Given the description of an element on the screen output the (x, y) to click on. 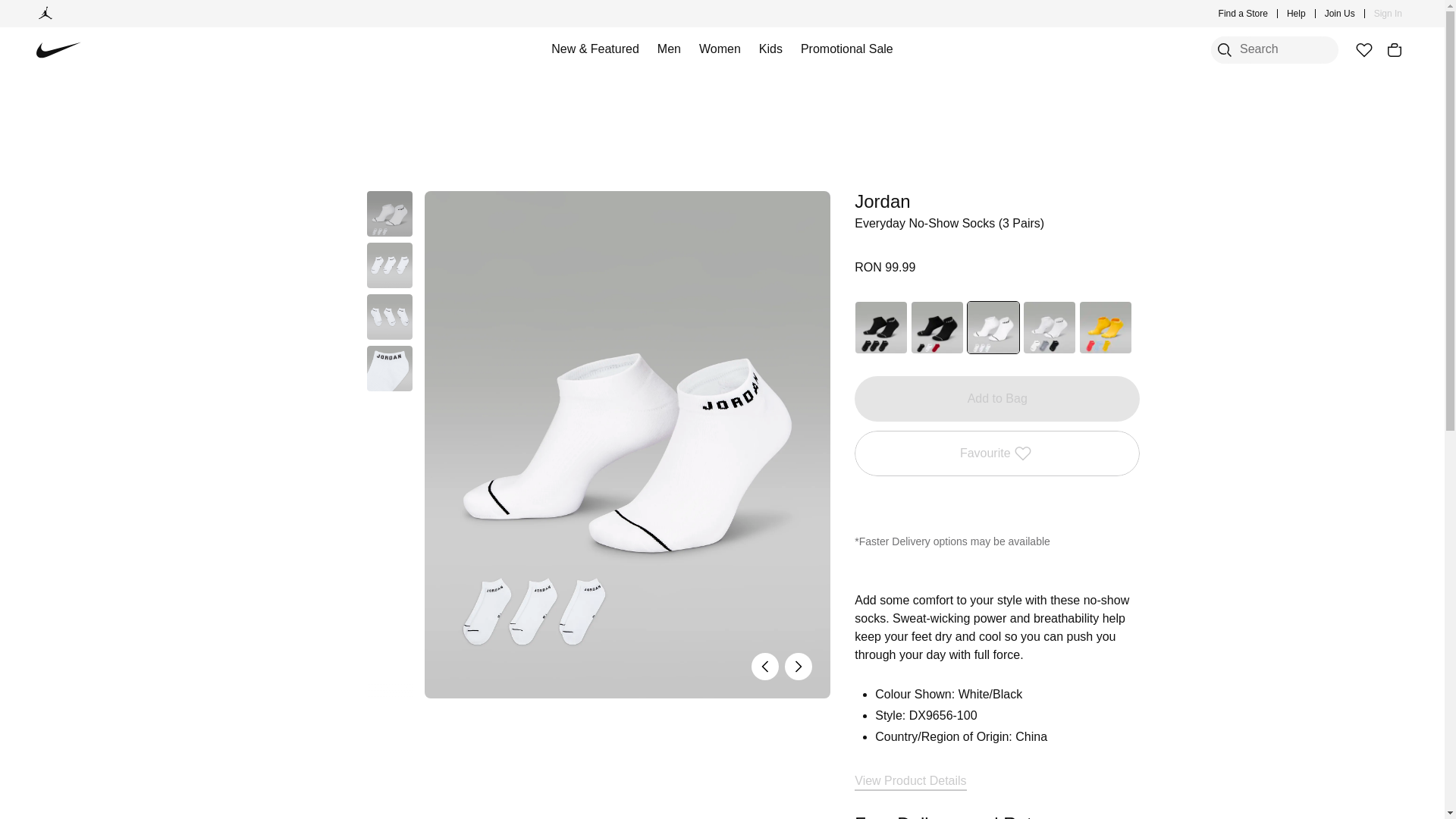
Help (1296, 13)
Bag Items: 0 (1393, 49)
Join Us (1339, 13)
Find a Store (1243, 13)
Sign In (1388, 13)
Favourites (1364, 49)
